Given the description of an element on the screen output the (x, y) to click on. 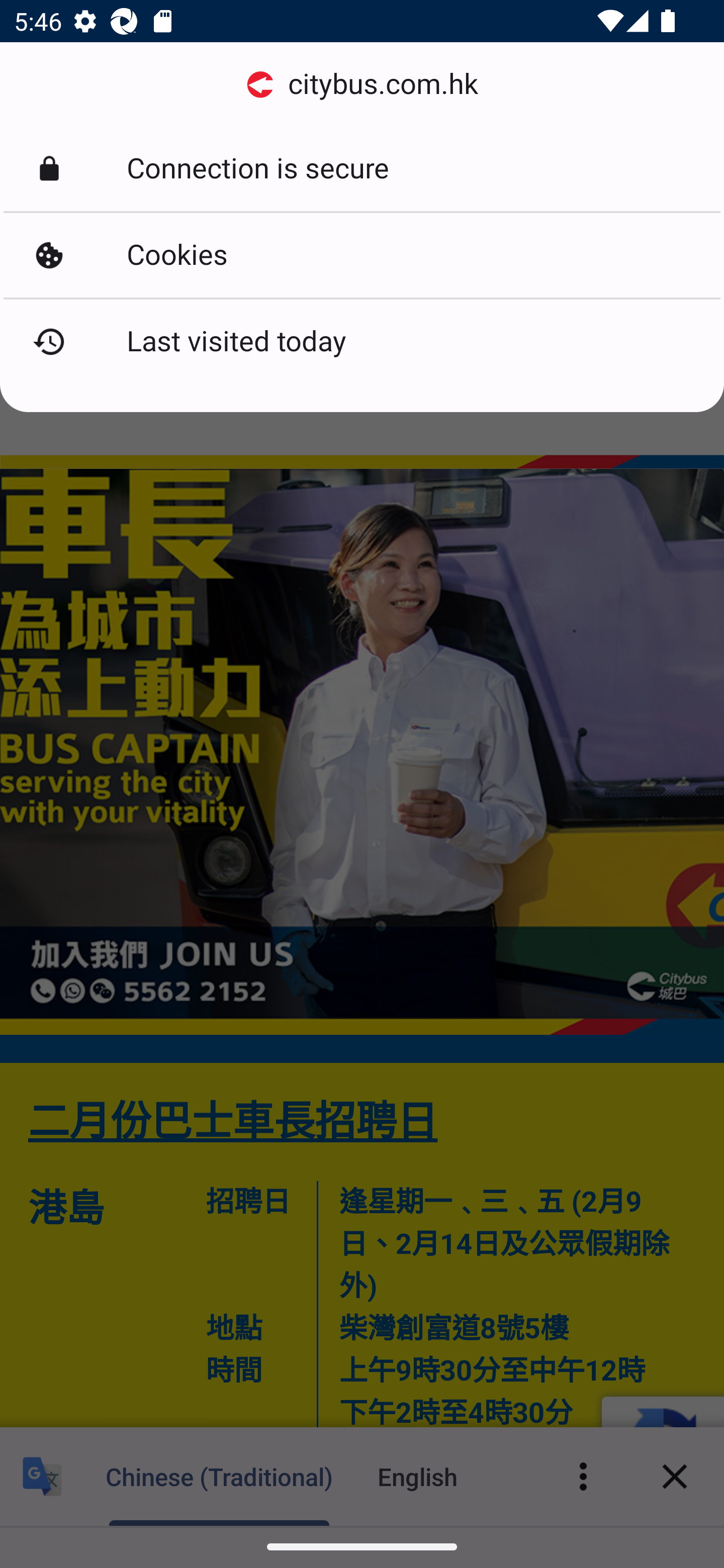
citybus.com.hk (362, 84)
Connection is secure (362, 169)
Cookies (362, 255)
Last visited today (362, 341)
